Given the description of an element on the screen output the (x, y) to click on. 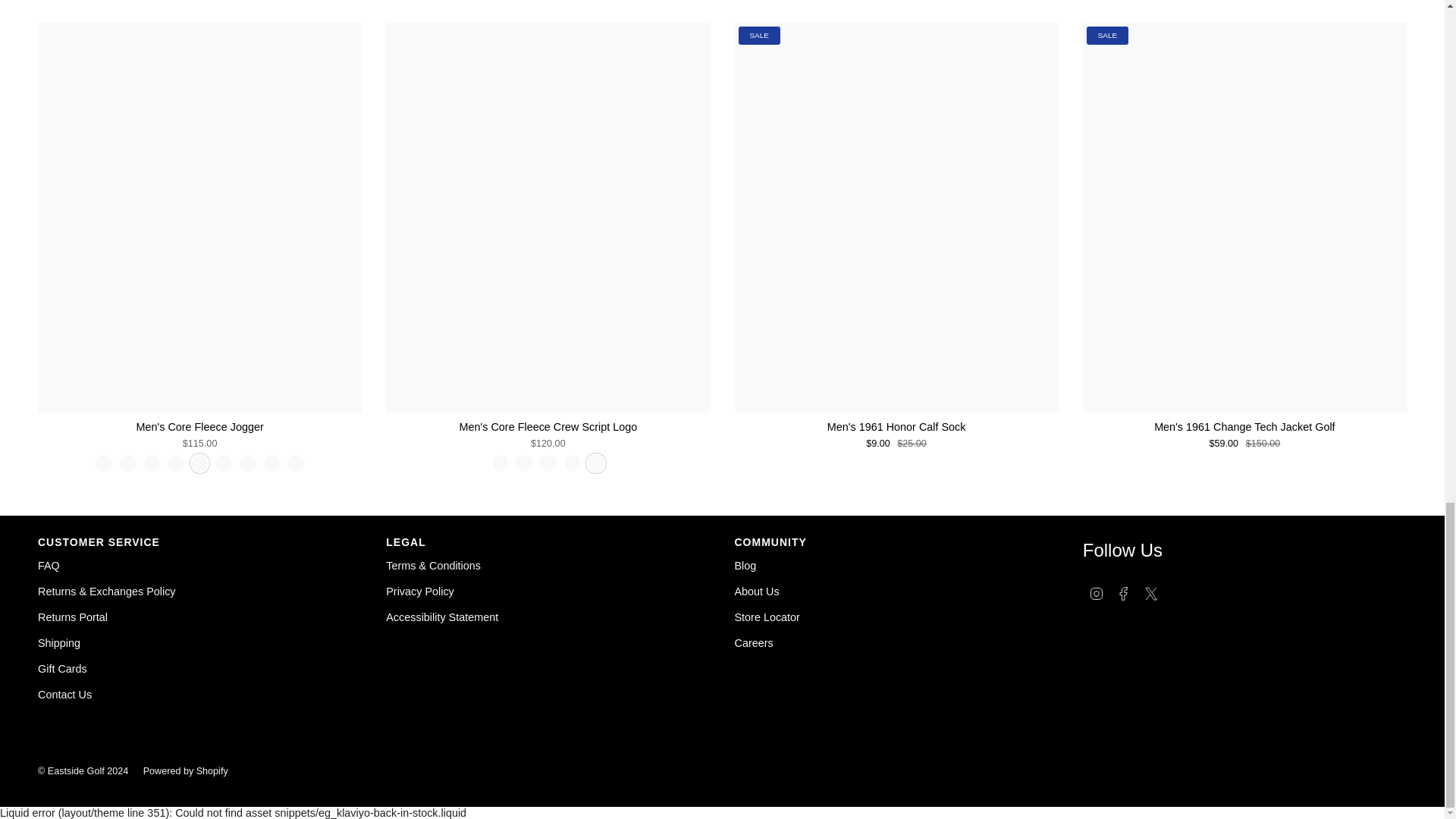
Eastside Golf on Twitter (1150, 592)
Eastside Golf on Instagram (1096, 592)
Eastside Golf on Facebook (1123, 592)
